Given the description of an element on the screen output the (x, y) to click on. 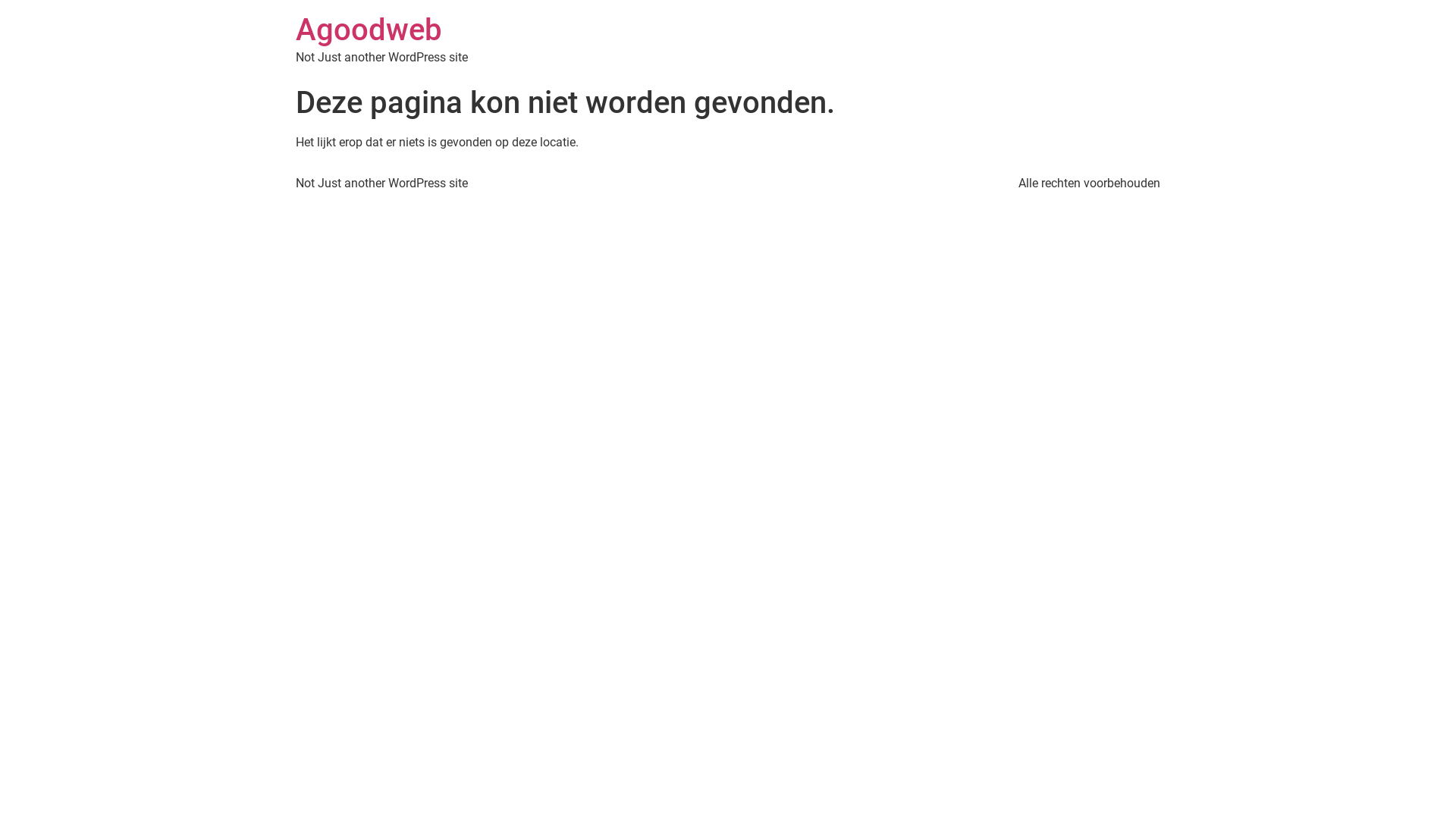
Agoodweb Element type: text (368, 29)
